Given the description of an element on the screen output the (x, y) to click on. 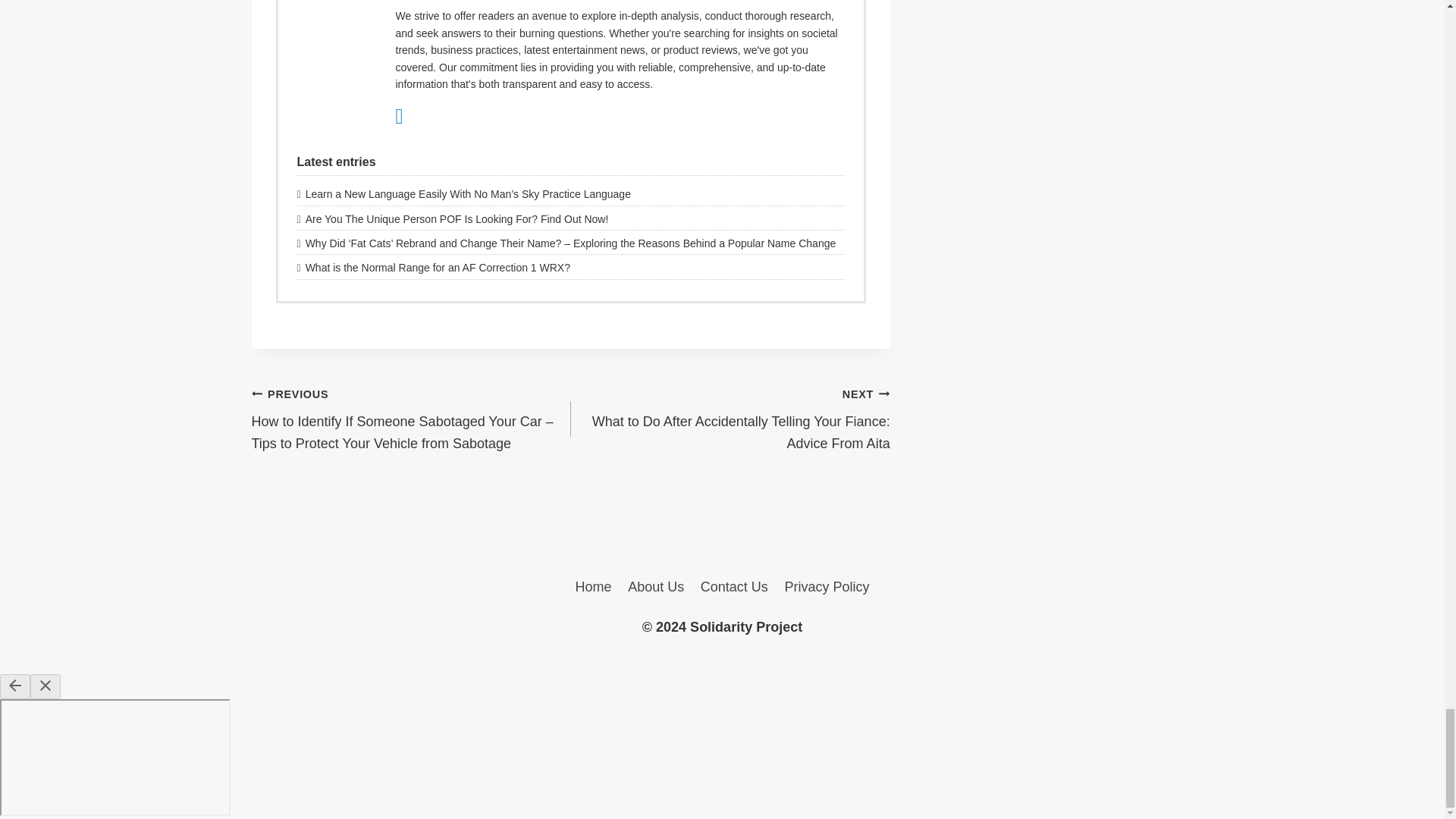
About Us (656, 587)
Are You The Unique Person POF Is Looking For? Find Out Now! (570, 217)
Privacy Policy (826, 587)
Home (593, 587)
Contact Us (734, 587)
What is the Normal Range for an AF Correction 1 WRX? (570, 267)
